Given the description of an element on the screen output the (x, y) to click on. 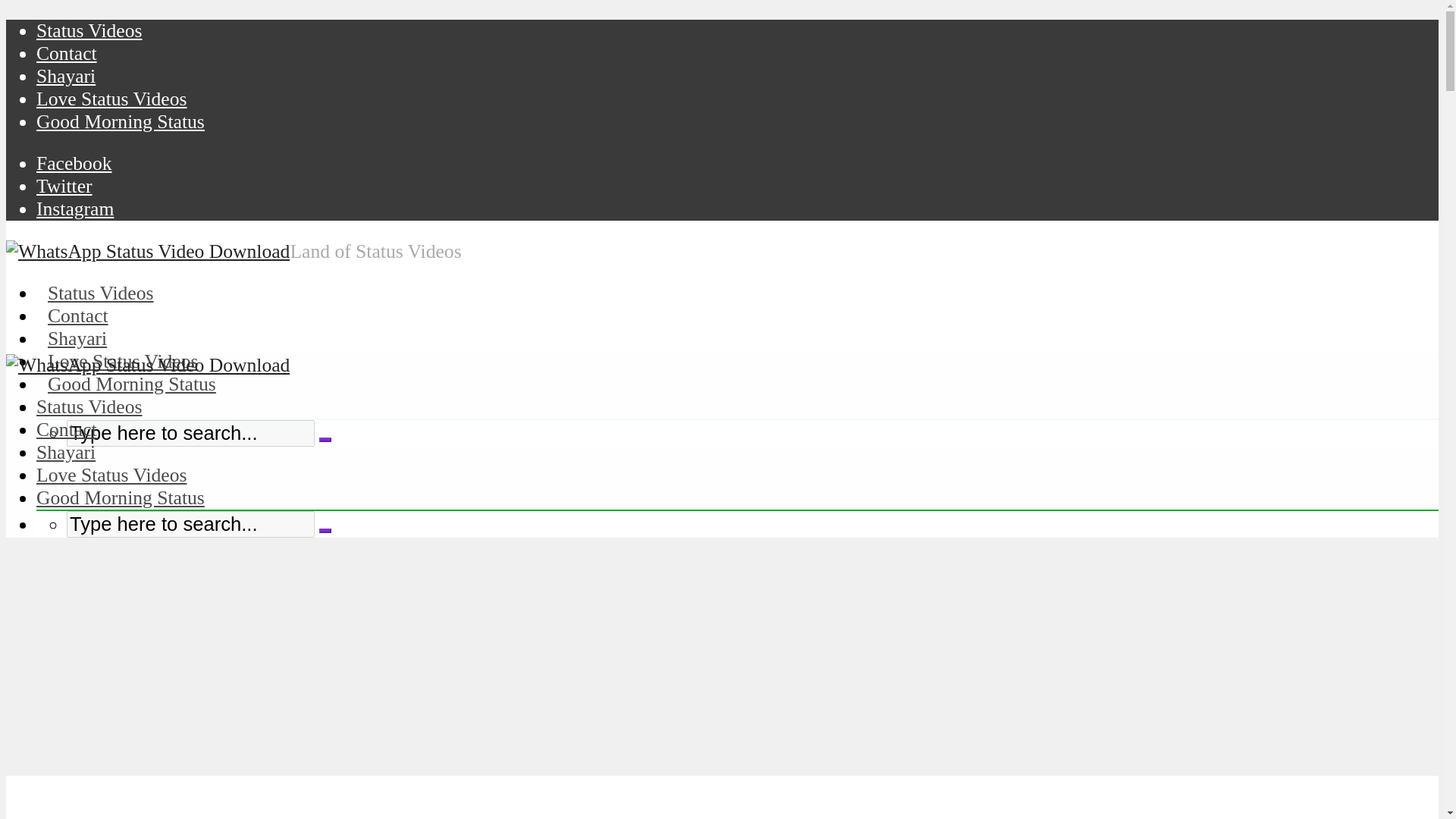
Instagram (74, 209)
Love Status Videos (111, 475)
Facebook (74, 163)
Contact (66, 53)
Status Videos (100, 292)
Love Status Videos (122, 361)
Twitter (64, 186)
Status Videos (88, 406)
Type here to search... (190, 524)
Good Morning Status (120, 121)
Type here to search... (190, 524)
Type here to search... (190, 433)
Shayari (66, 75)
Shayari (66, 452)
Good Morning Status (131, 383)
